Given the description of an element on the screen output the (x, y) to click on. 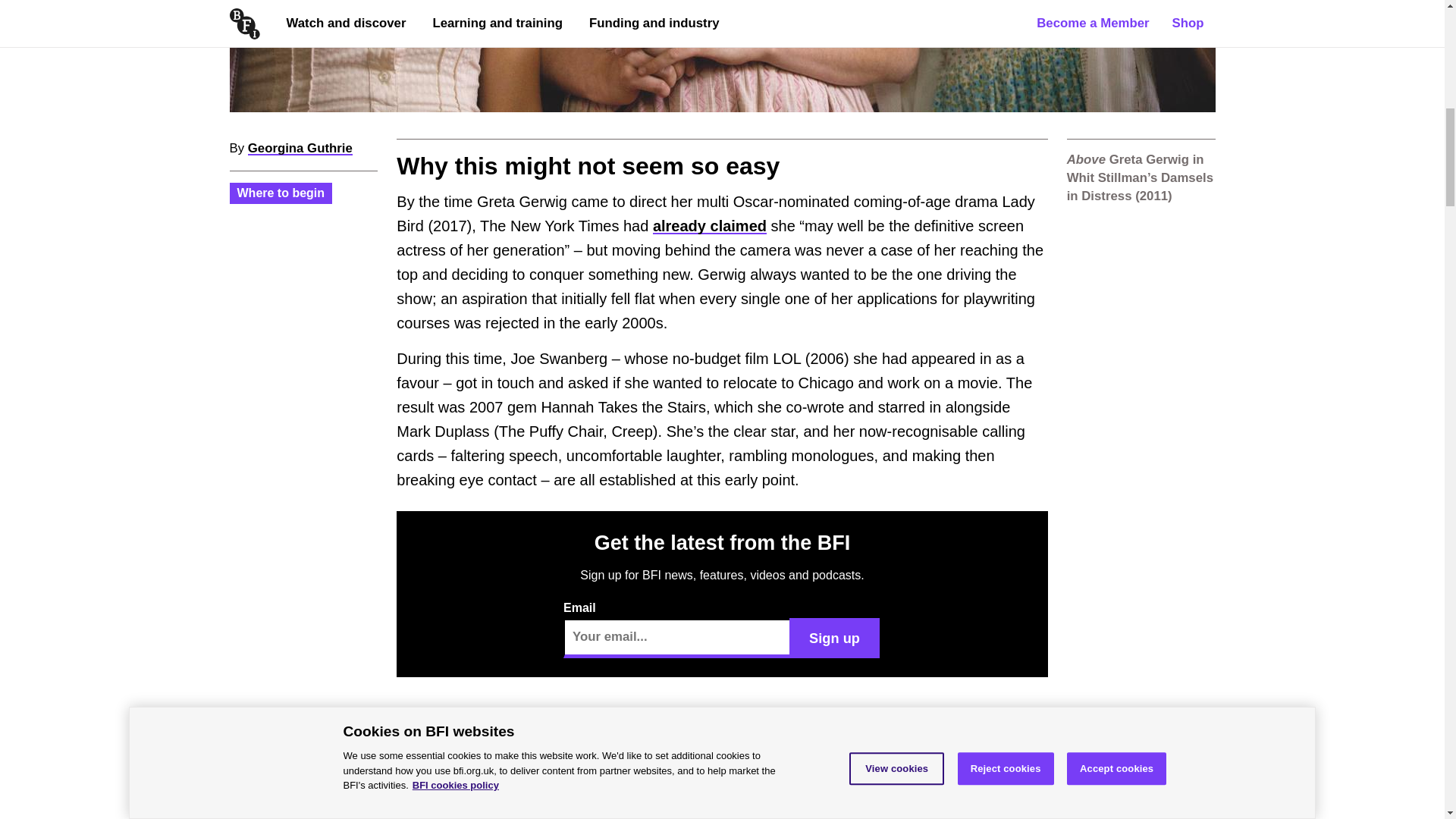
Where to begin (279, 192)
Georgina Guthrie (299, 147)
already claimed (709, 225)
Sign up (834, 637)
